Given the description of an element on the screen output the (x, y) to click on. 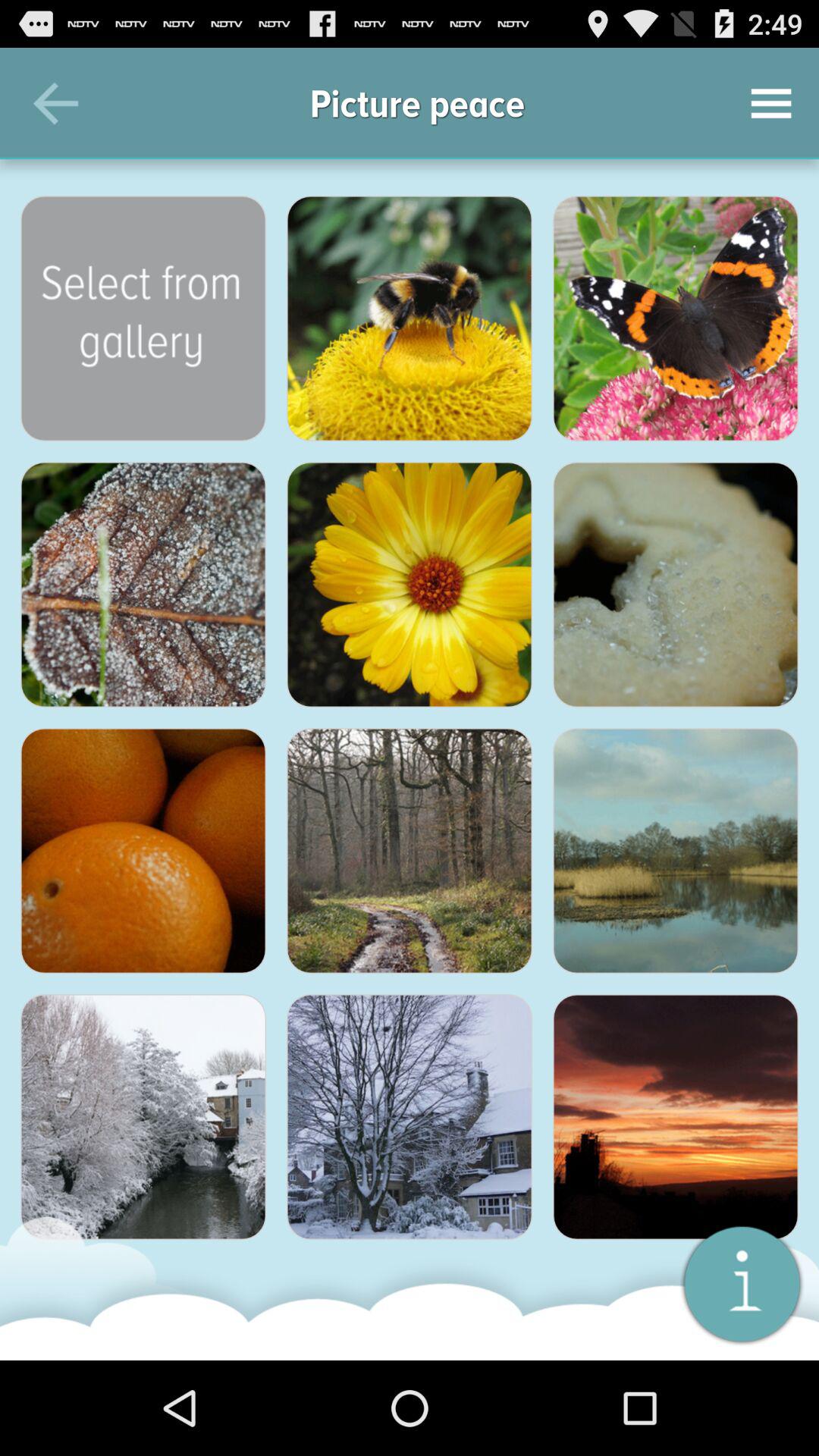
select this thumbnail (409, 318)
